Given the description of an element on the screen output the (x, y) to click on. 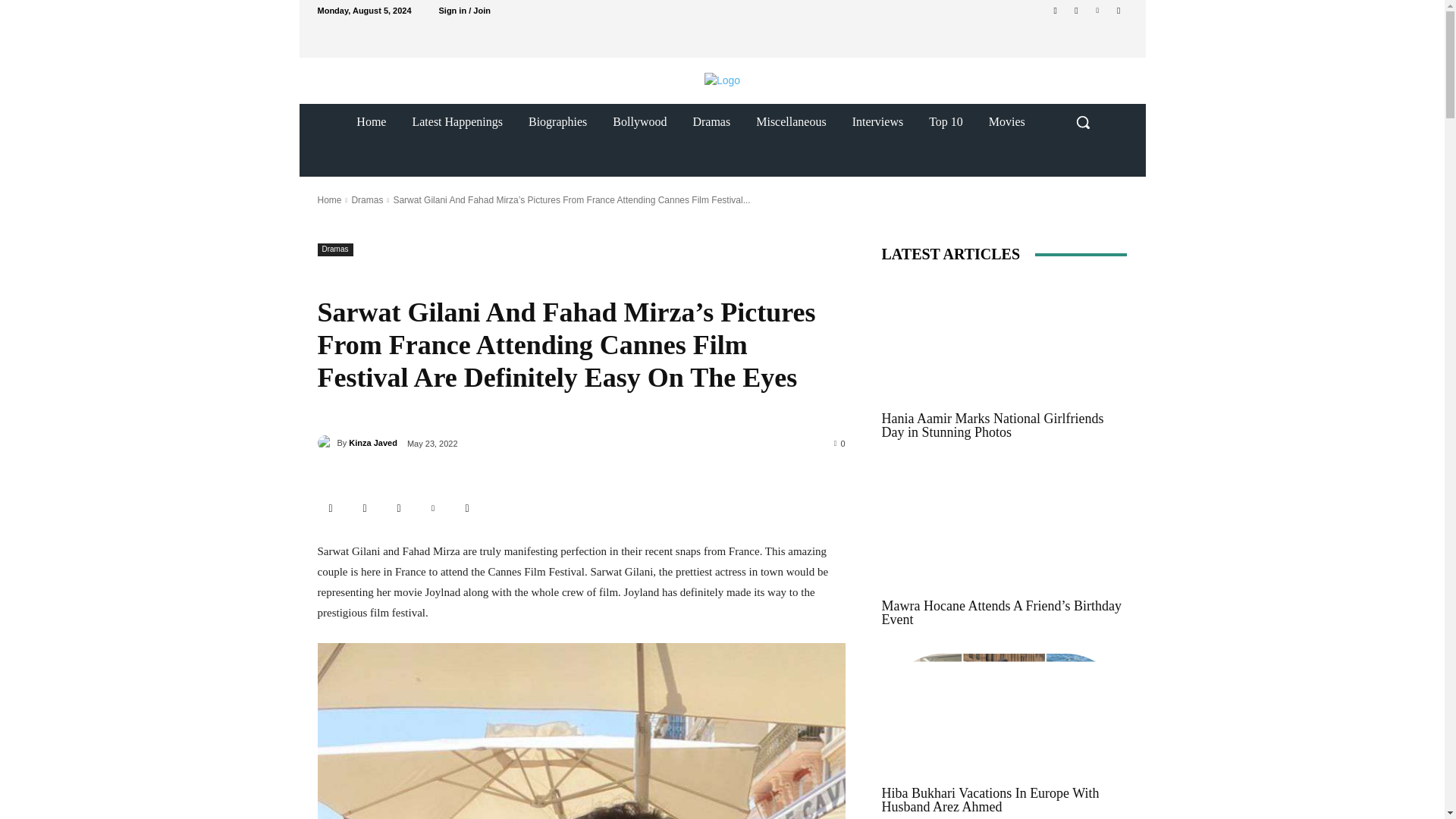
Dramas (710, 122)
0 (839, 442)
Biographies (557, 122)
Kinza Javed (373, 442)
Interviews (878, 122)
Bollywood (639, 122)
Pinterest (1097, 9)
Facebook (1055, 9)
Home (328, 199)
Share (330, 508)
Movies (1006, 122)
Instagram (398, 508)
View all posts in Dramas (366, 199)
Dramas (334, 249)
Instagram (1075, 9)
